Given the description of an element on the screen output the (x, y) to click on. 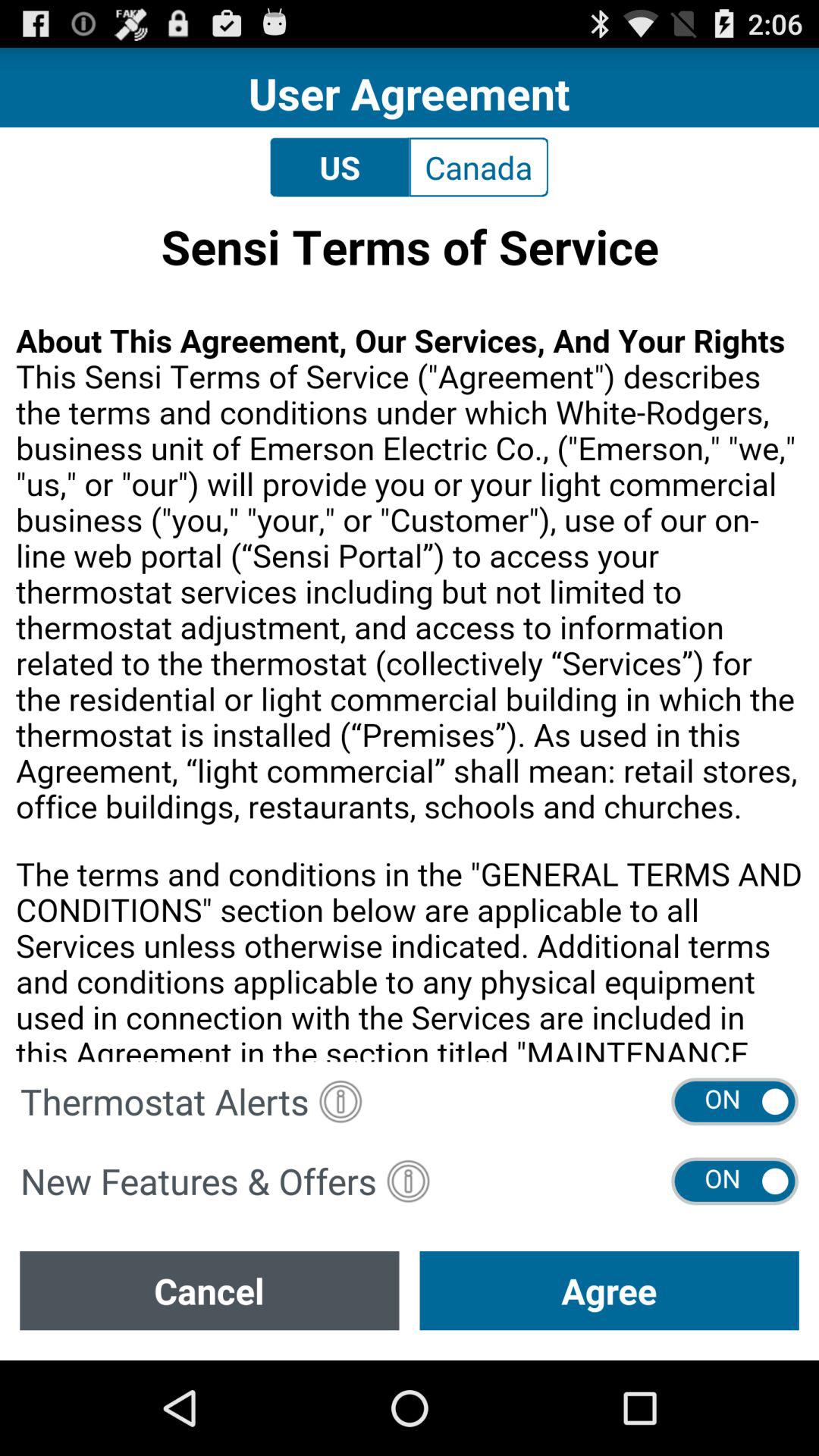
more information button (408, 1180)
